Given the description of an element on the screen output the (x, y) to click on. 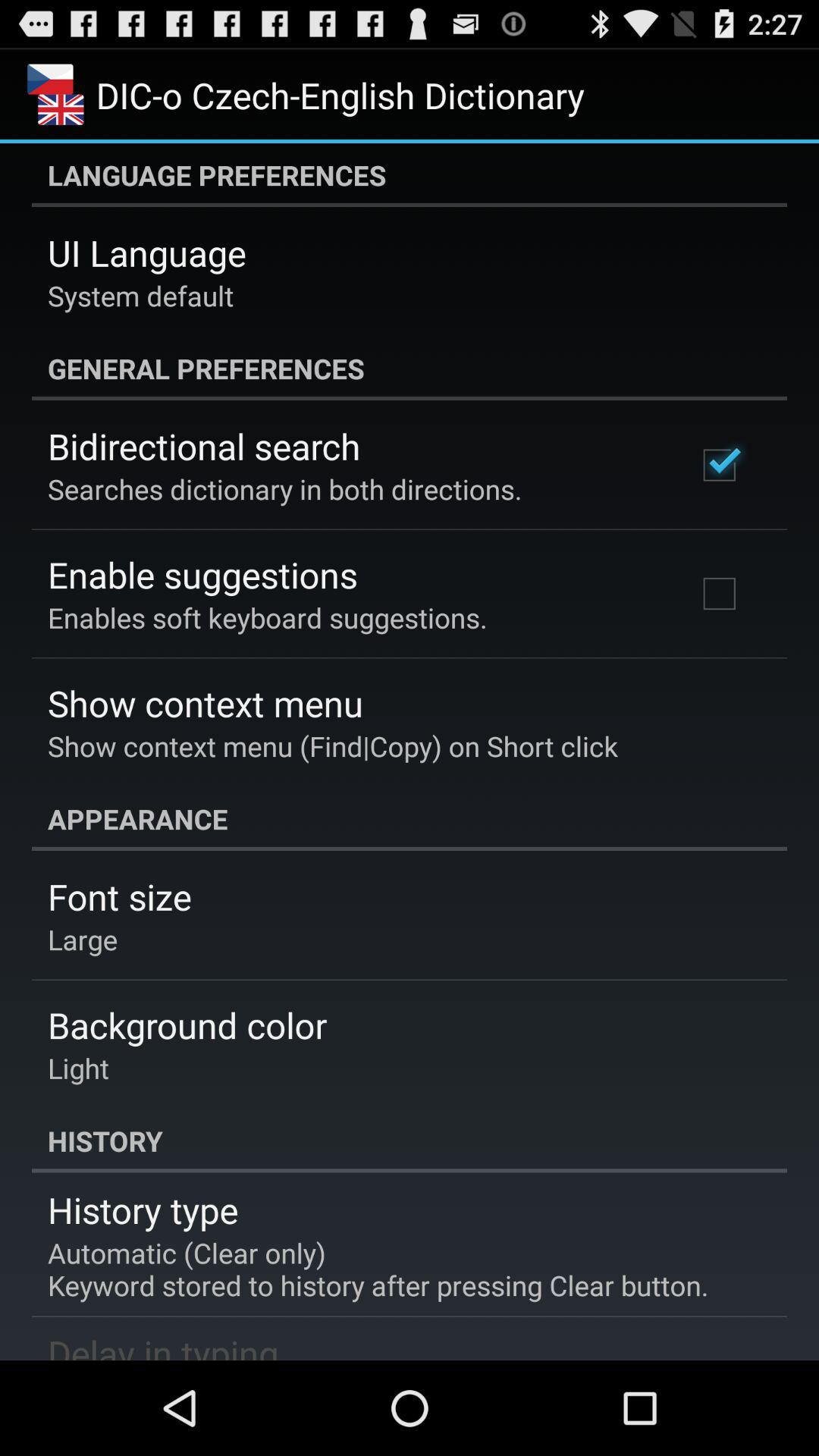
turn off item above system default (146, 252)
